Given the description of an element on the screen output the (x, y) to click on. 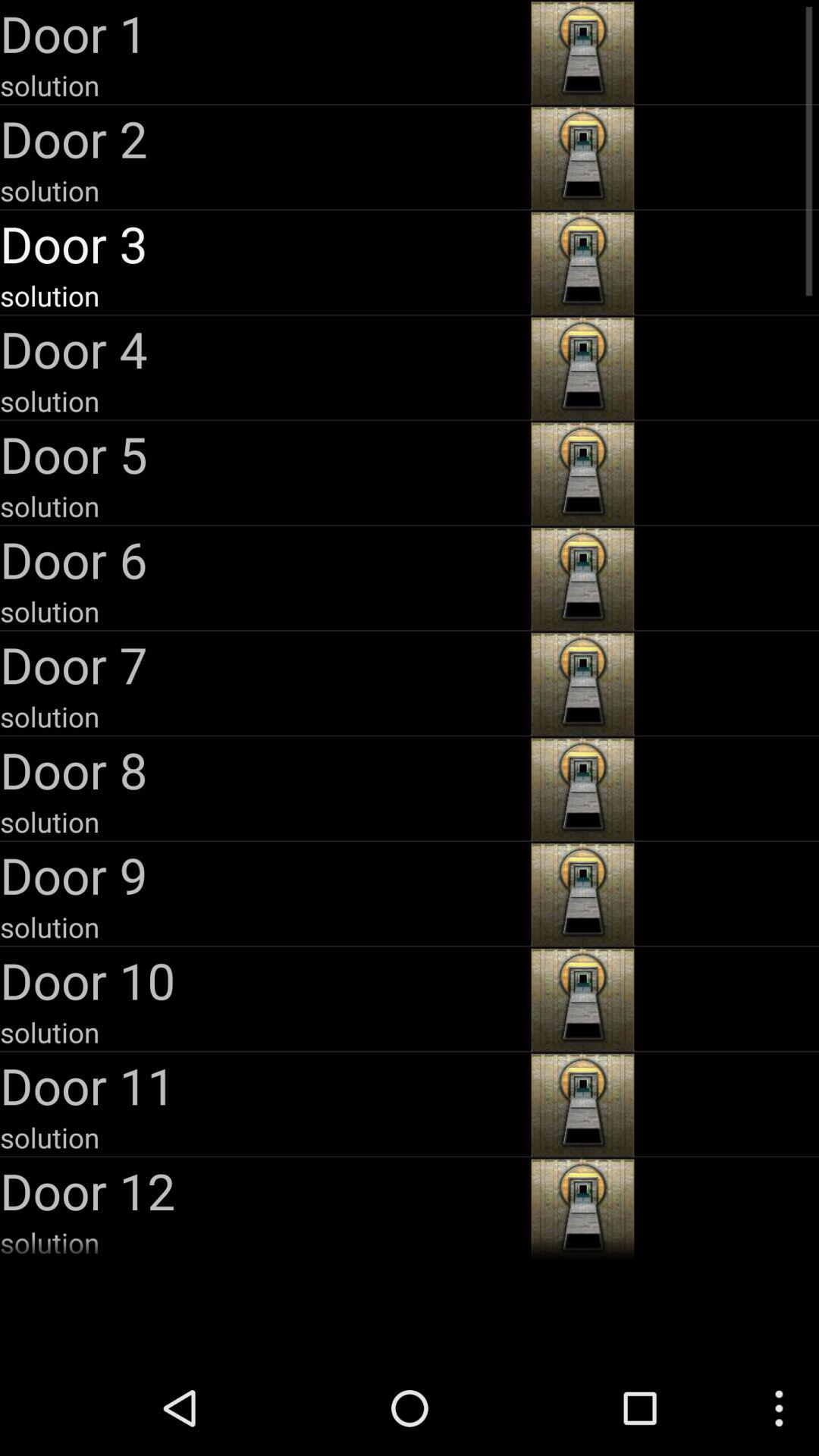
choose the door 5 icon (263, 453)
